Given the description of an element on the screen output the (x, y) to click on. 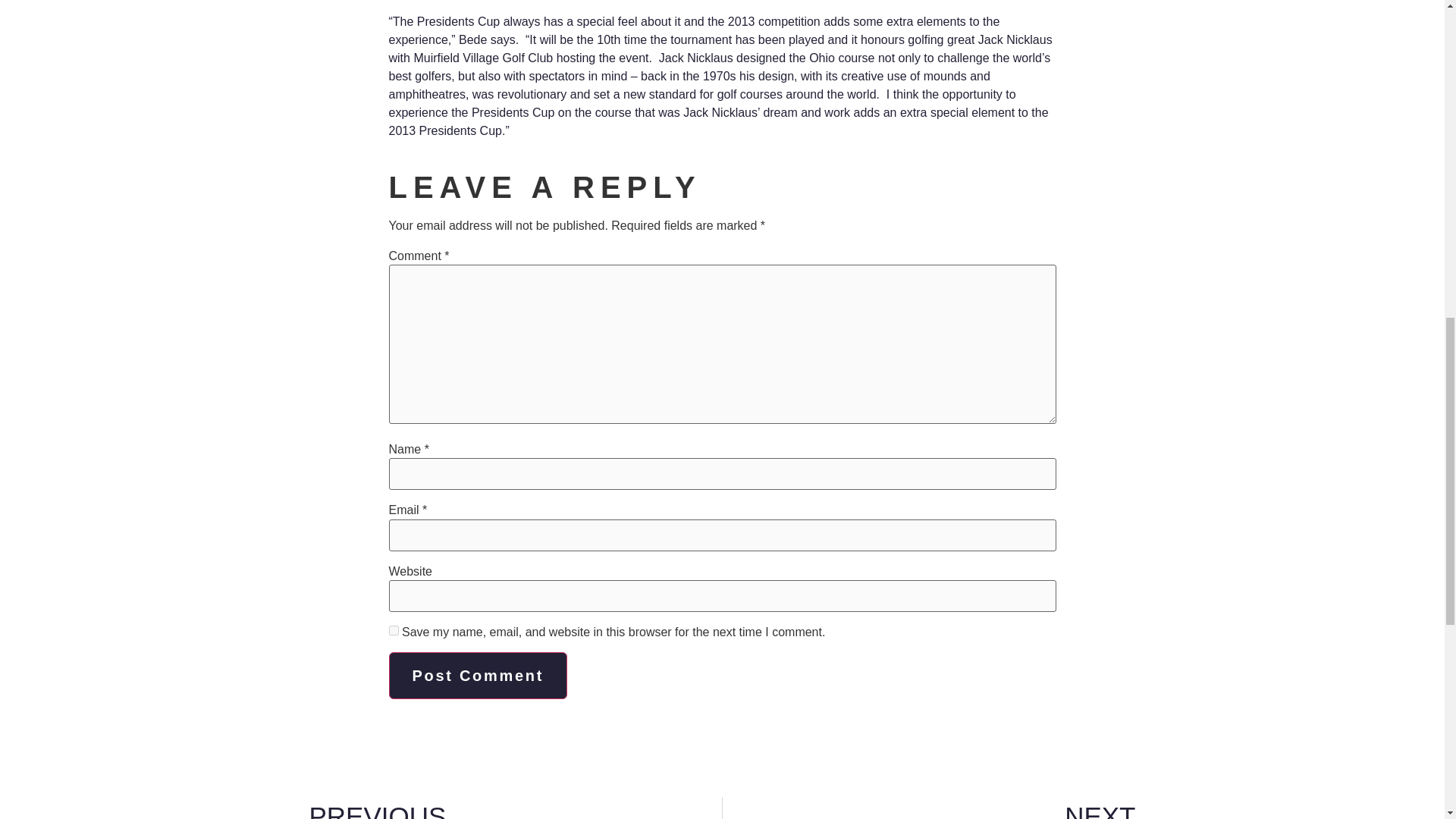
Post Comment (477, 675)
yes (934, 807)
Post Comment (509, 807)
